Given the description of an element on the screen output the (x, y) to click on. 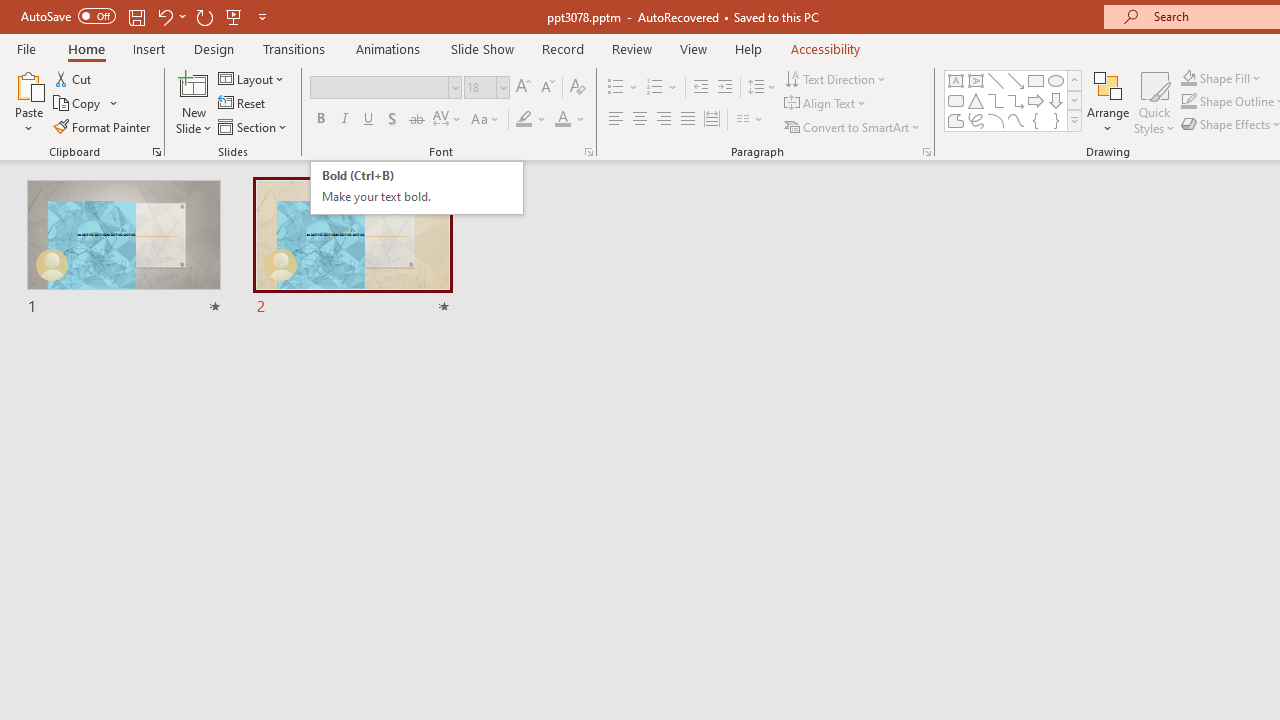
Center (639, 119)
Underline (369, 119)
Layout (252, 78)
Arrange (1108, 102)
Arc (995, 120)
Bold (320, 119)
Section (254, 126)
Isosceles Triangle (975, 100)
Left Brace (1035, 120)
